Given the description of an element on the screen output the (x, y) to click on. 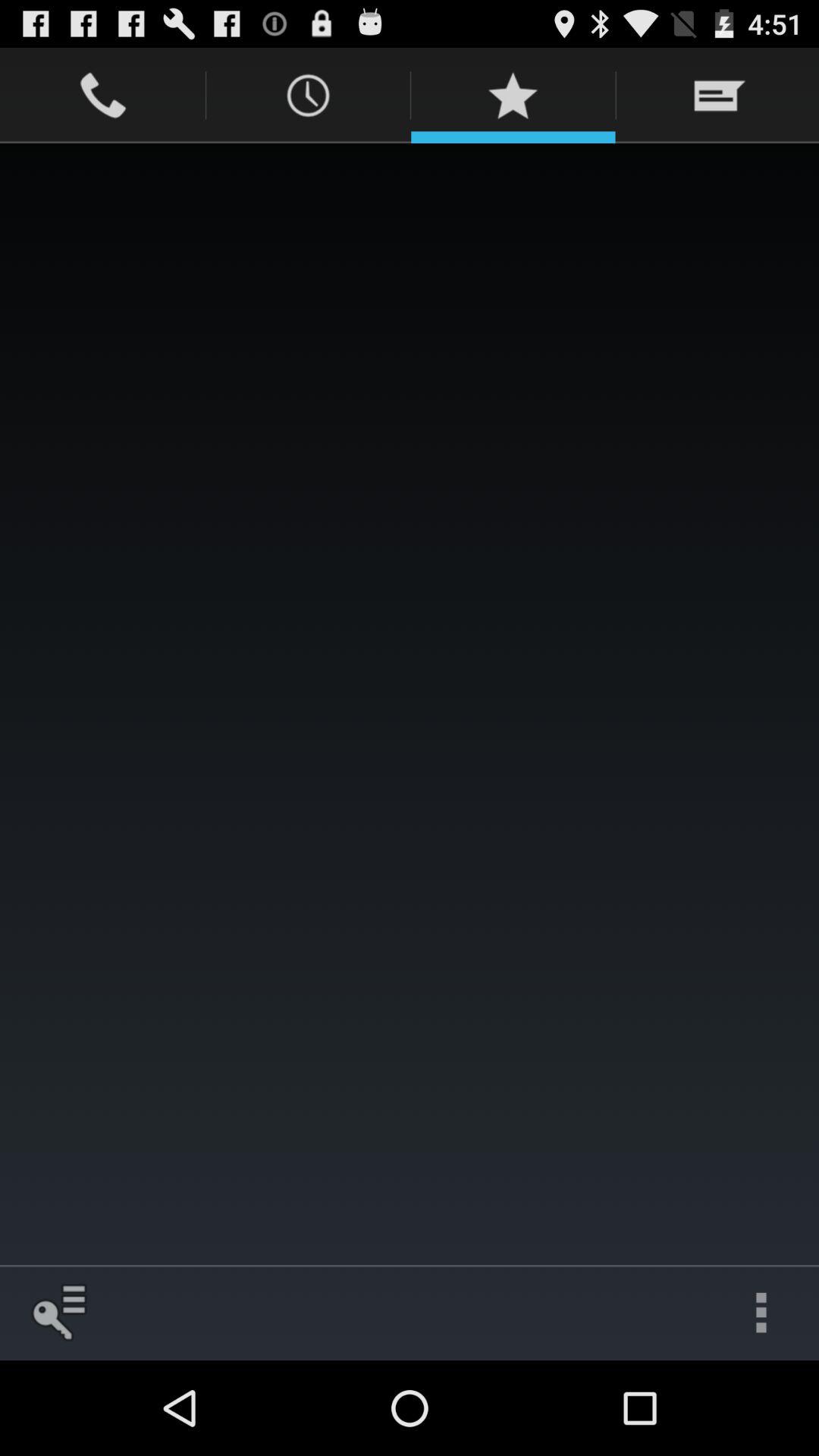
click the item at the center (409, 703)
